Given the description of an element on the screen output the (x, y) to click on. 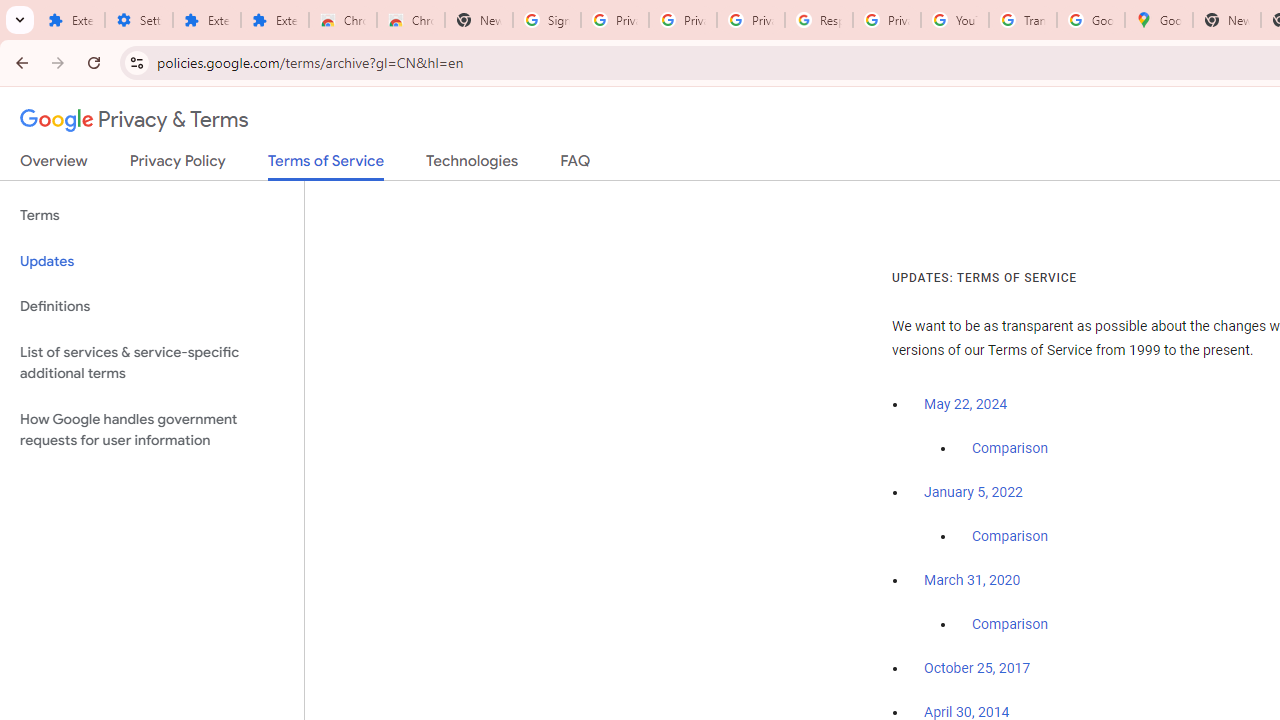
Extensions (274, 20)
New Tab (1226, 20)
October 25, 2017 (977, 669)
